Given the description of an element on the screen output the (x, y) to click on. 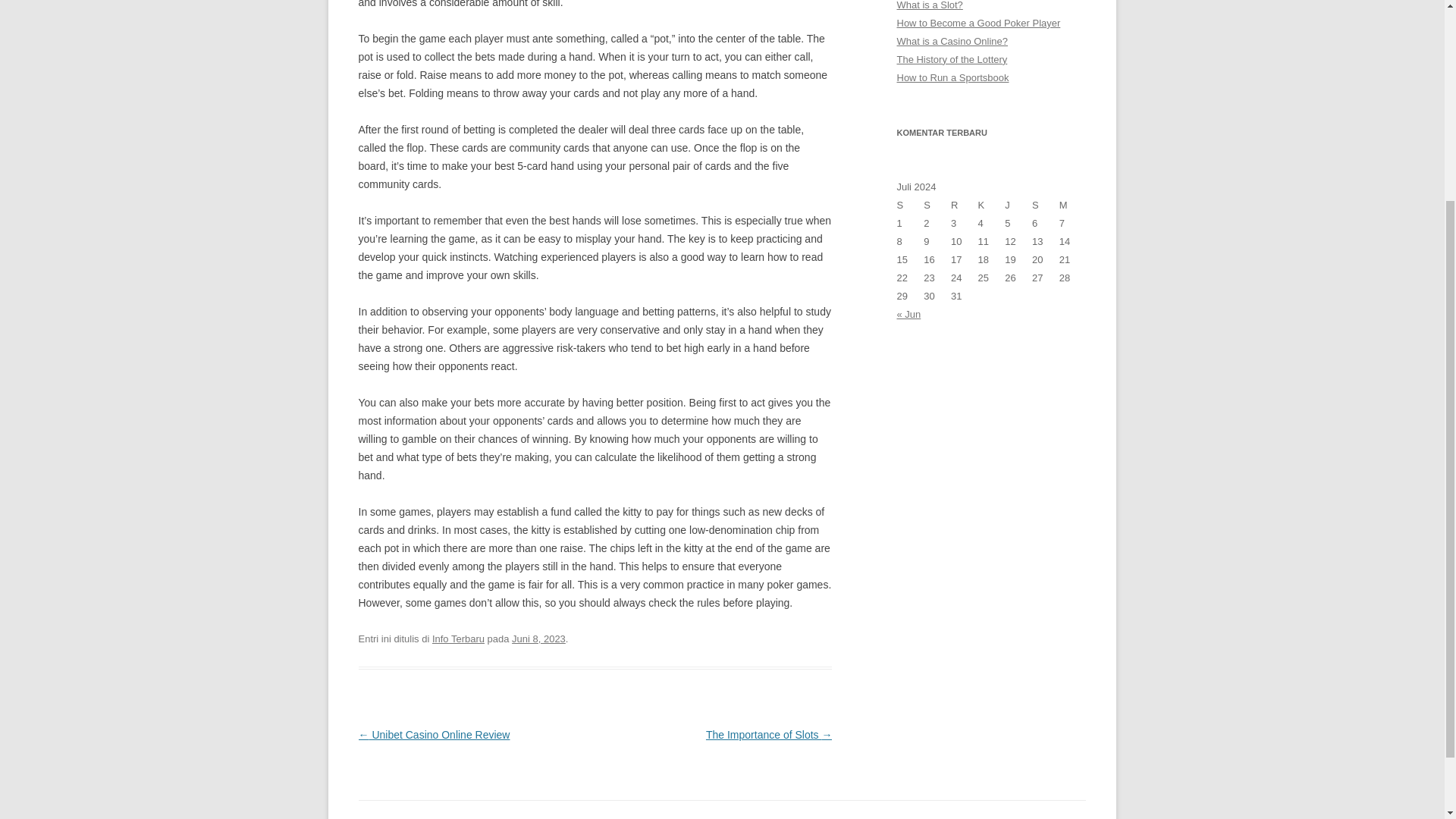
How to Run a Sportsbook (952, 77)
What is a Casino Online? (951, 41)
Rabu (964, 205)
Senin (909, 205)
What is a Slot? (929, 5)
Jumat (1018, 205)
6:05 am (539, 638)
Kamis (992, 205)
Sabtu (1045, 205)
How to Become a Good Poker Player (977, 22)
Minggu (1072, 205)
Juni 8, 2023 (539, 638)
Selasa (936, 205)
Info Terbaru (458, 638)
The History of the Lottery (951, 59)
